Given the description of an element on the screen output the (x, y) to click on. 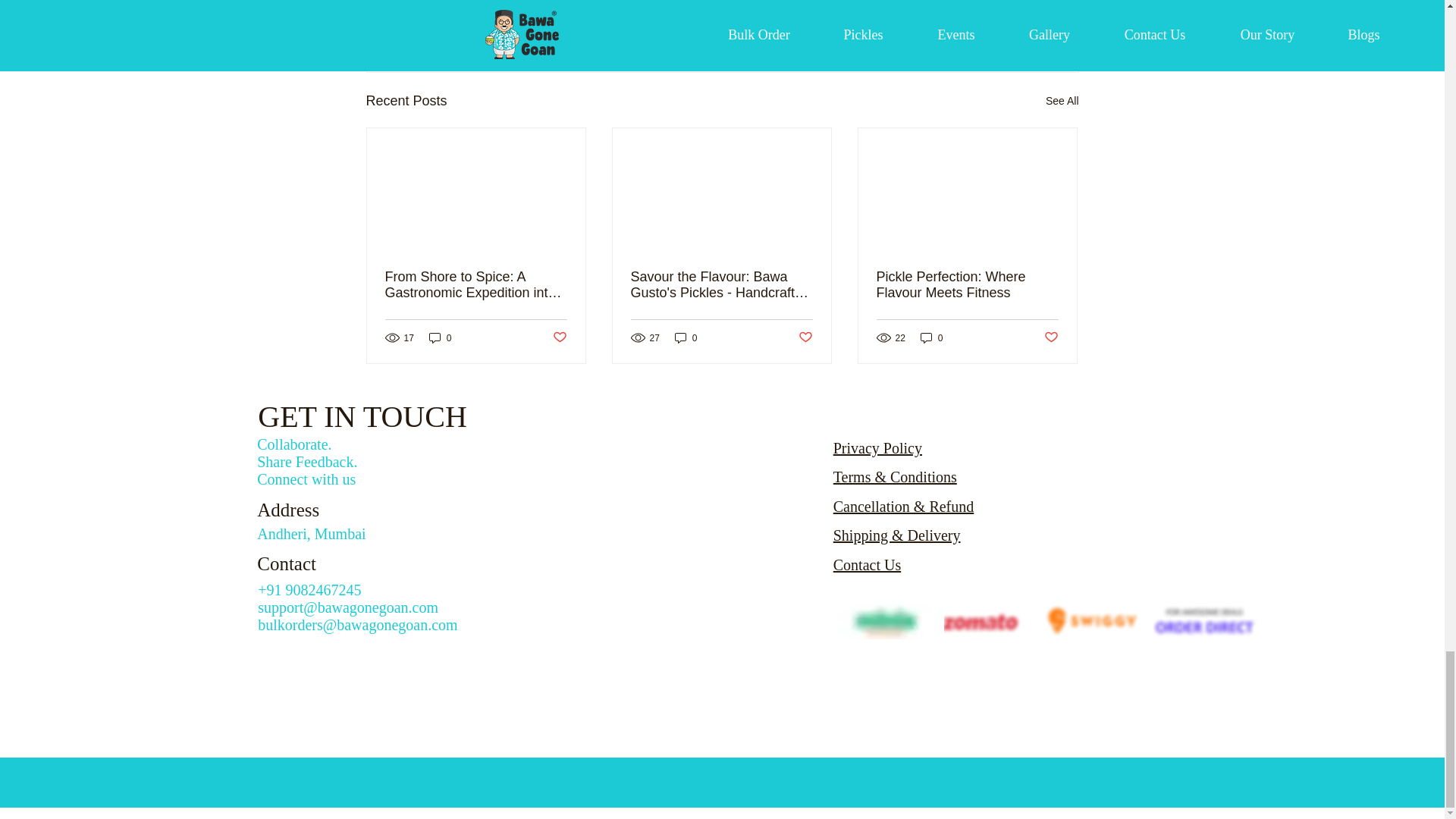
0 (931, 337)
Pickle Perfection: Where Flavour Meets Fitness (967, 285)
0 (685, 337)
Post not marked as liked (558, 337)
0 (440, 337)
See All (1061, 101)
Post not marked as liked (804, 337)
Post not marked as liked (995, 18)
